Given the description of an element on the screen output the (x, y) to click on. 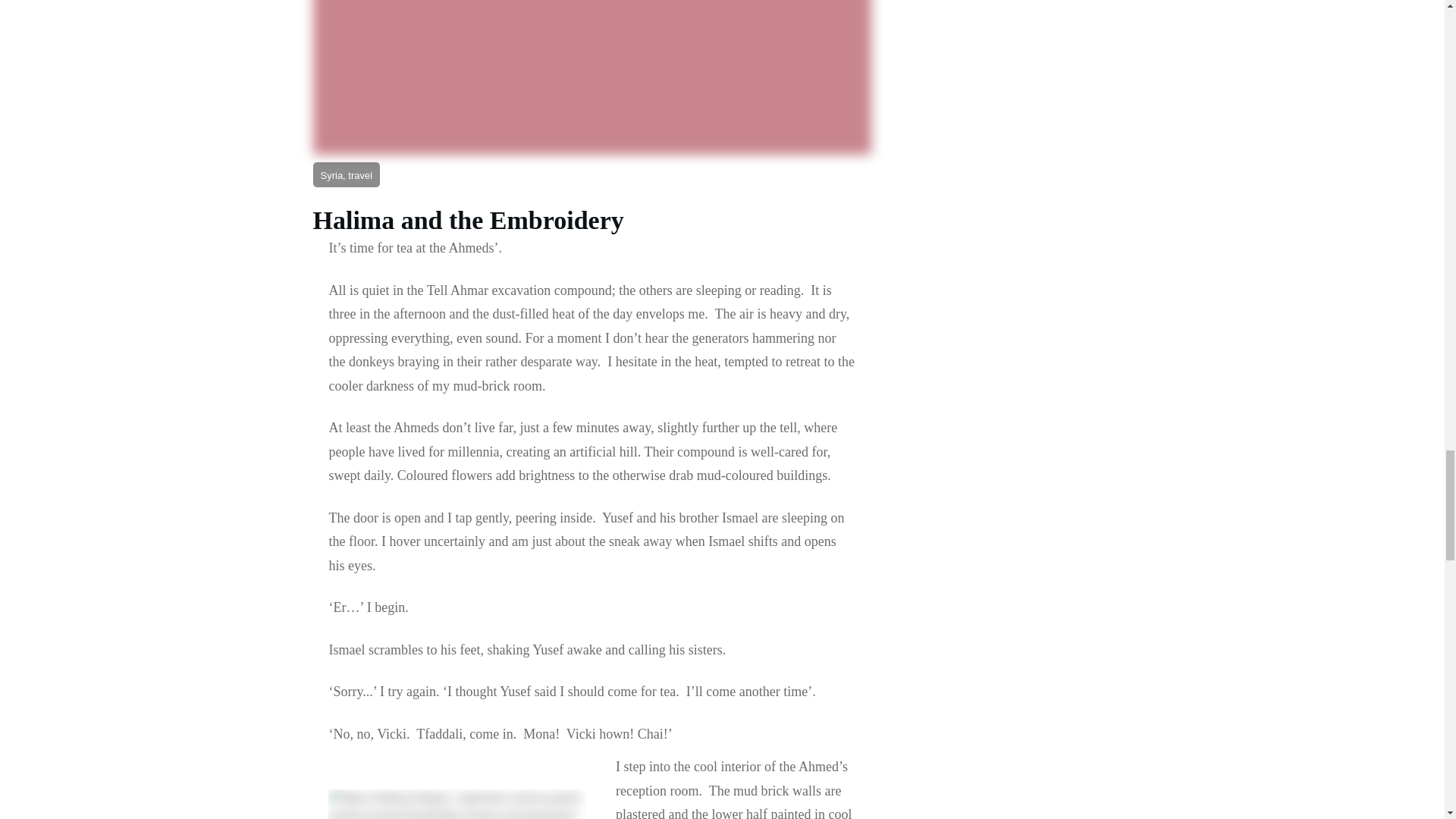
Halima and the Embroidery (468, 220)
Halima and the Embroidery (468, 220)
Tell Ahmar www.victoriaclaytonwriter.com (456, 804)
Halima and the Embroidery (591, 77)
